Given the description of an element on the screen output the (x, y) to click on. 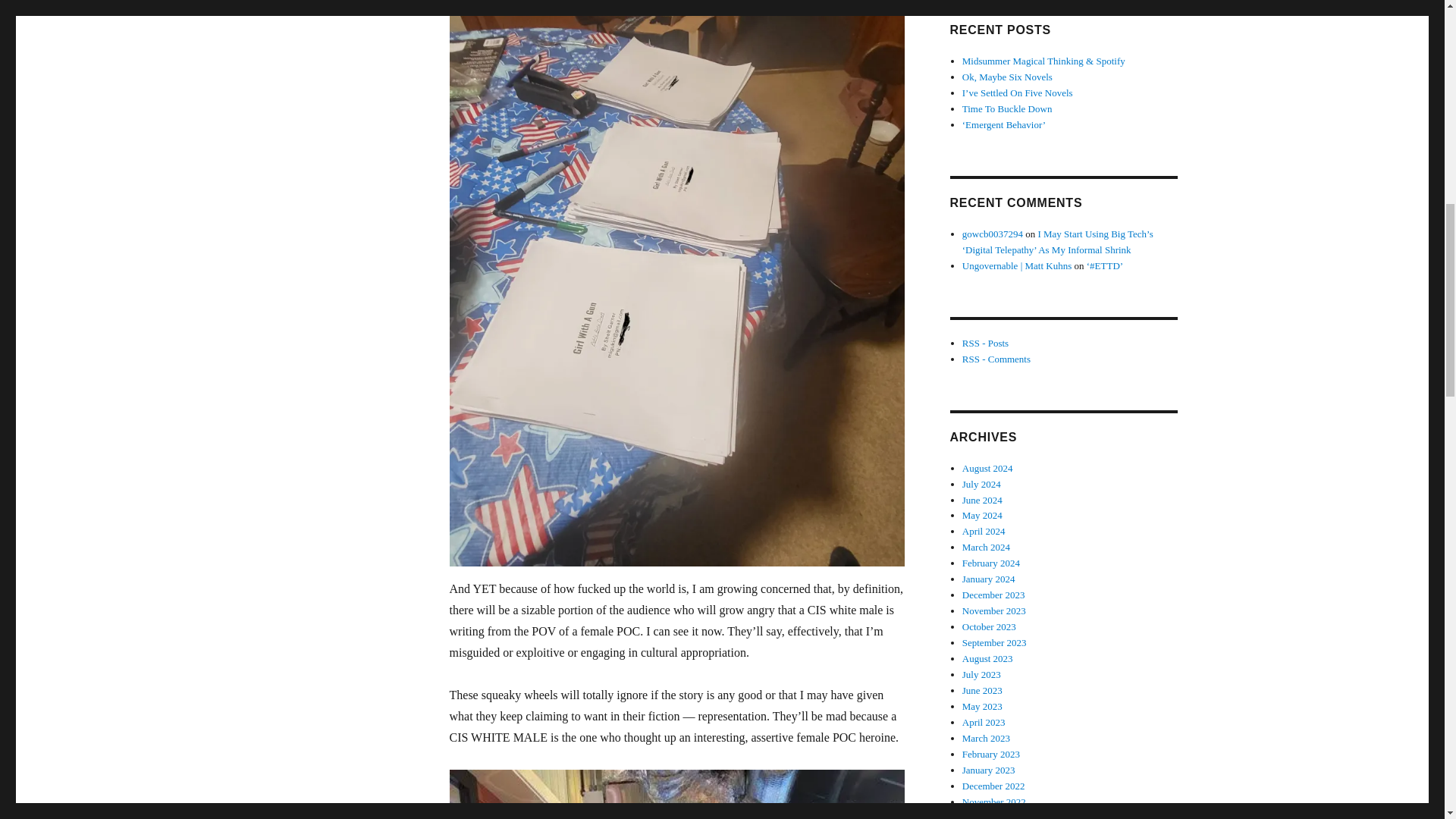
Subscribe to posts (985, 342)
RSS - Comments (996, 358)
Time To Buckle Down (1007, 108)
Ok, Maybe Six Novels (1007, 76)
RSS - Posts (985, 342)
gowcb0037294 (992, 233)
Subscribe to comments (996, 358)
